Given the description of an element on the screen output the (x, y) to click on. 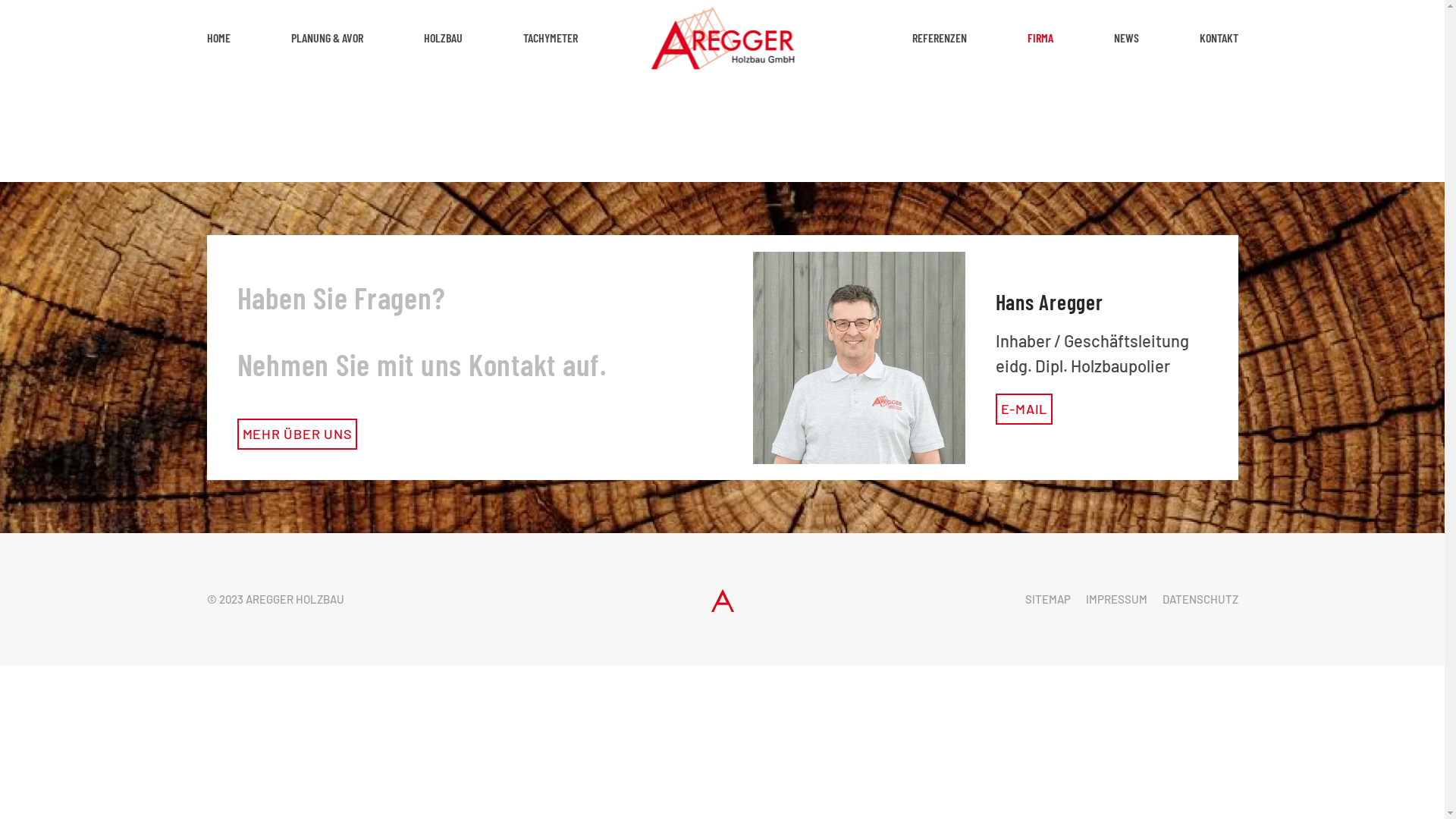
DATENSCHUTZ Element type: text (1200, 599)
HOME Element type: text (217, 37)
SITEMAP Element type: text (1047, 599)
E-MAIL Element type: text (1023, 562)
TACHYMETER Element type: text (550, 37)
PLANUNG & AVOR Element type: text (326, 37)
KONTAKT Element type: text (1218, 37)
FIRMA Element type: text (1039, 37)
HOLZBAU Element type: text (442, 37)
NEWS Element type: text (1125, 37)
REFERENZEN Element type: text (938, 37)
